Given the description of an element on the screen output the (x, y) to click on. 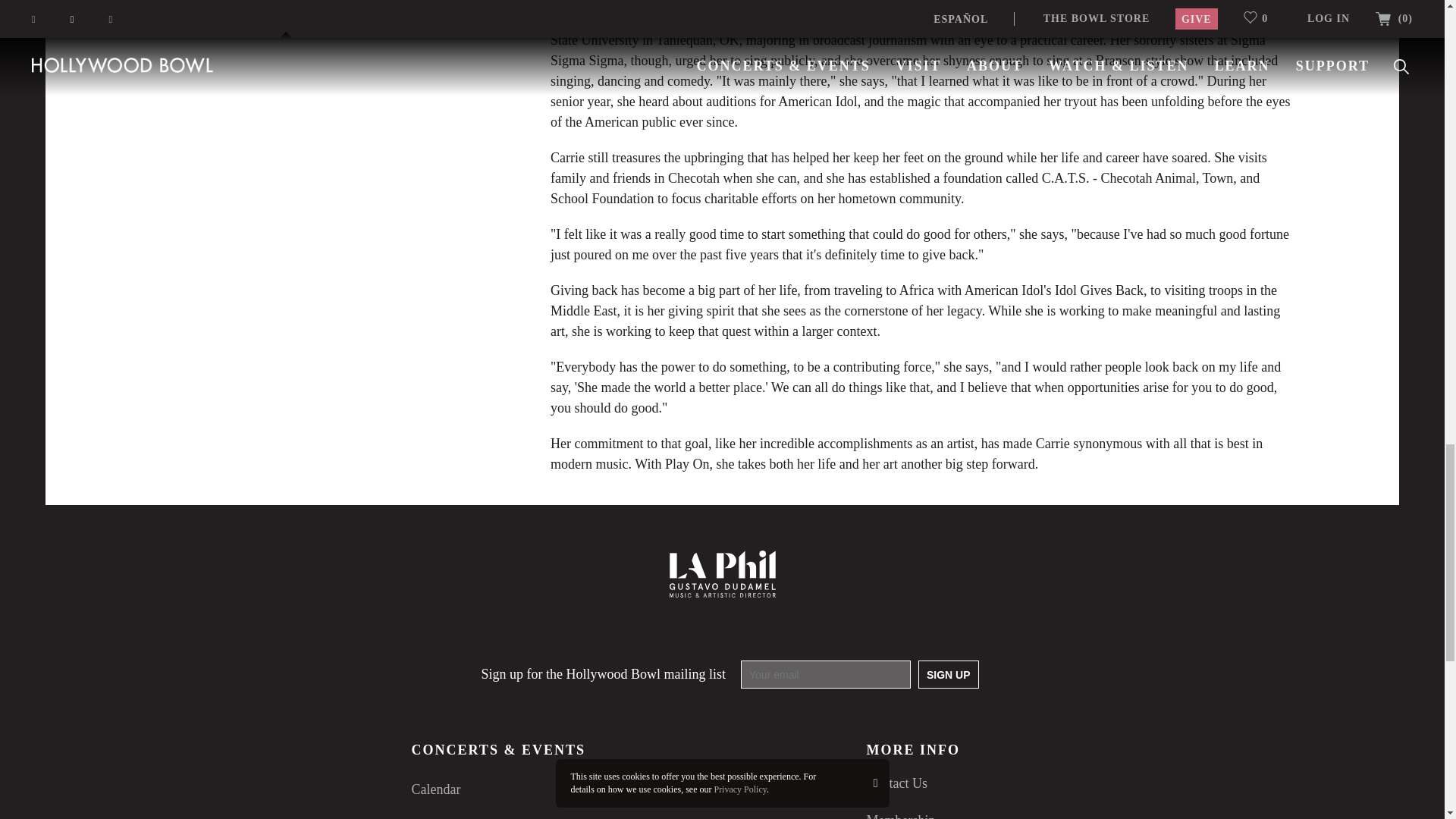
Sign Up (948, 674)
